Given the description of an element on the screen output the (x, y) to click on. 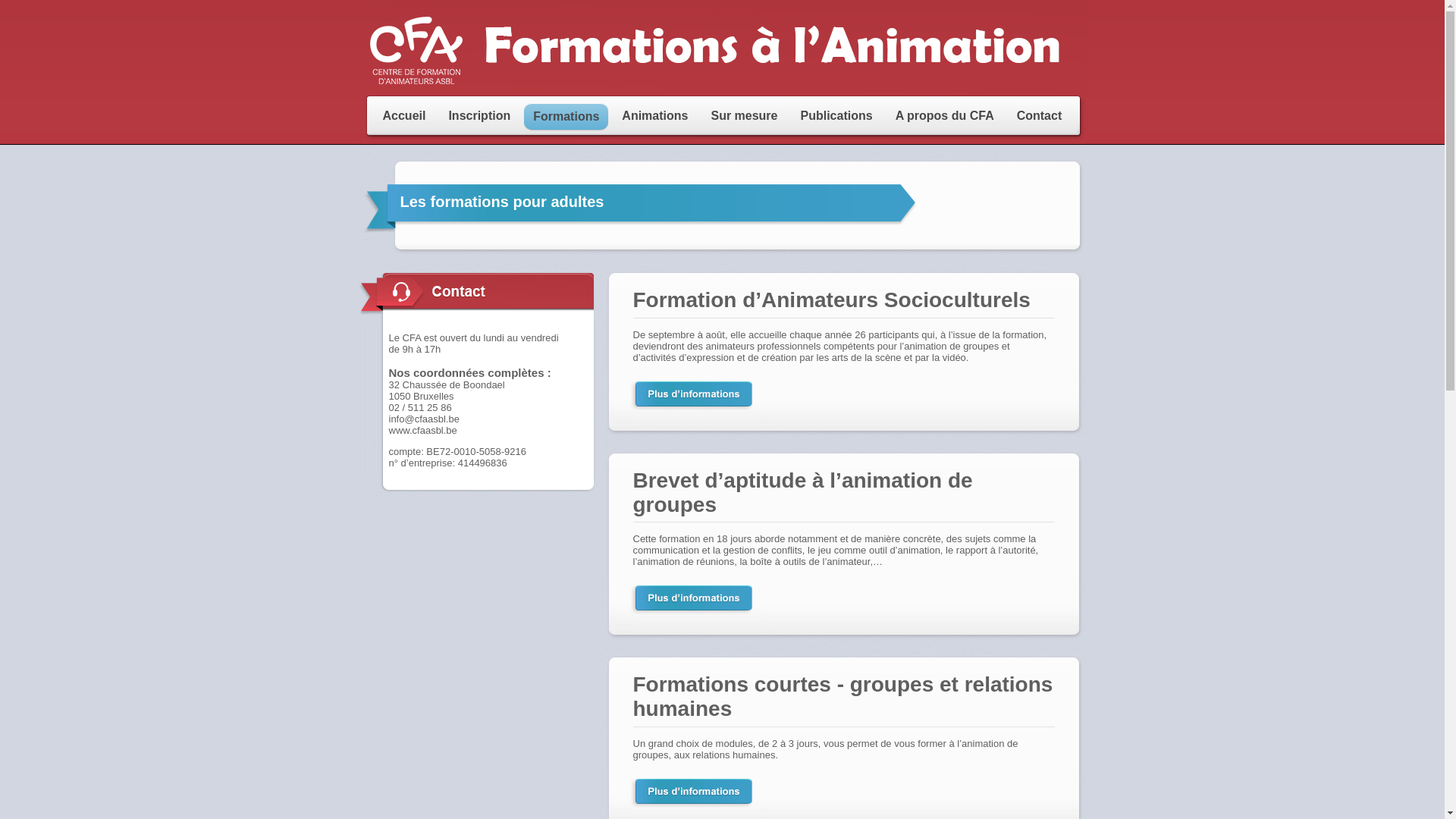
Formations courtes - groupes et relations humaines Element type: text (842, 700)
Animations Element type: text (654, 115)
Inscription Element type: text (479, 115)
Publications Element type: text (836, 115)
Contact Element type: text (1039, 115)
Formations Element type: text (566, 116)
Sur mesure Element type: text (743, 115)
Accueil Element type: text (403, 115)
A propos du CFA Element type: text (944, 115)
